Given the description of an element on the screen output the (x, y) to click on. 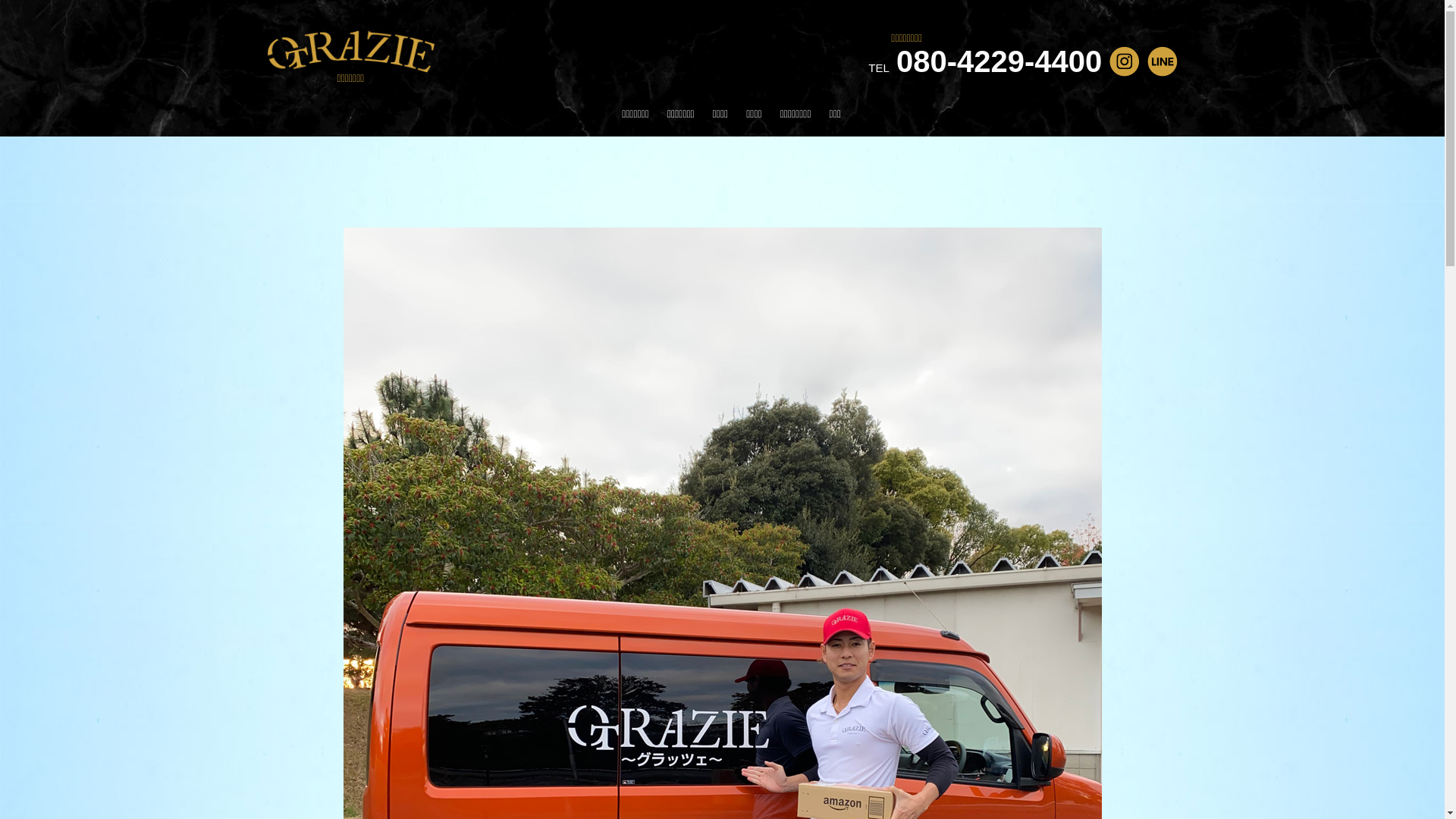
080-4229-4400 Element type: text (1000, 61)
